Given the description of an element on the screen output the (x, y) to click on. 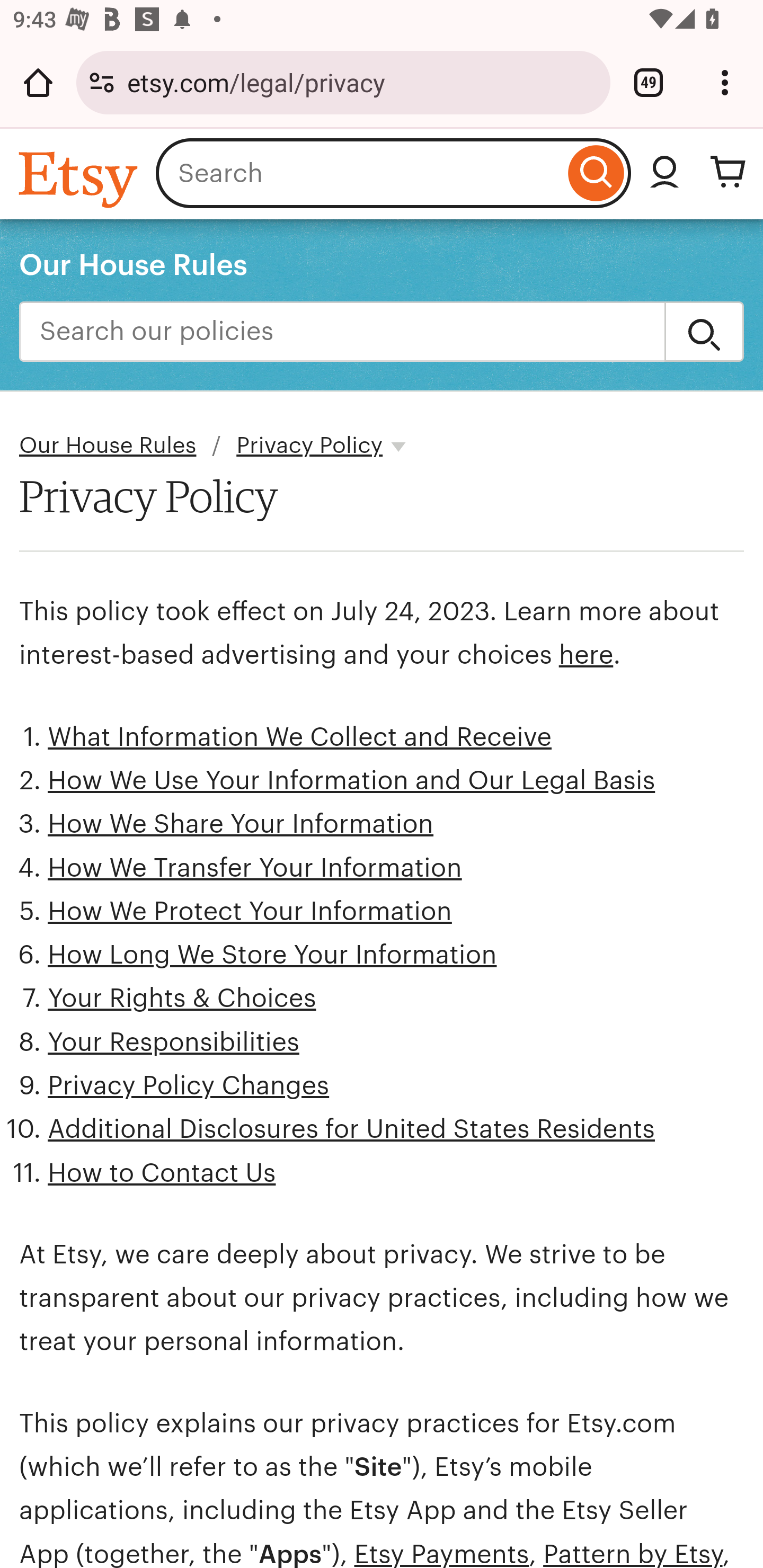
Open the home page (38, 82)
Connection is secure (101, 82)
Switch or close tabs (648, 82)
Customize and control Google Chrome (724, 82)
etsy.com/legal/privacy (362, 82)
Search (595, 172)
Cart (727, 172)
Sign in (664, 172)
Etsy (80, 178)
Our House Rules (133, 263)
Search (703, 331)
Our House Rules (107, 445)
here (585, 655)
What Information We Collect and Receive (300, 736)
How We Use Your Information and Our Legal Basis (351, 781)
How We Share Your Information (240, 823)
How We Transfer Your Information (254, 867)
How We Protect Your Information (250, 911)
How Long We Store Your Information (272, 954)
Your Rights & Choices (181, 998)
Your Responsibilities (173, 1041)
Privacy Policy Changes (188, 1085)
Additional Disclosures for United States Residents (350, 1128)
How to Contact Us (161, 1172)
Etsy Payments (440, 1553)
Pattern by Etsy (632, 1553)
